Given the description of an element on the screen output the (x, y) to click on. 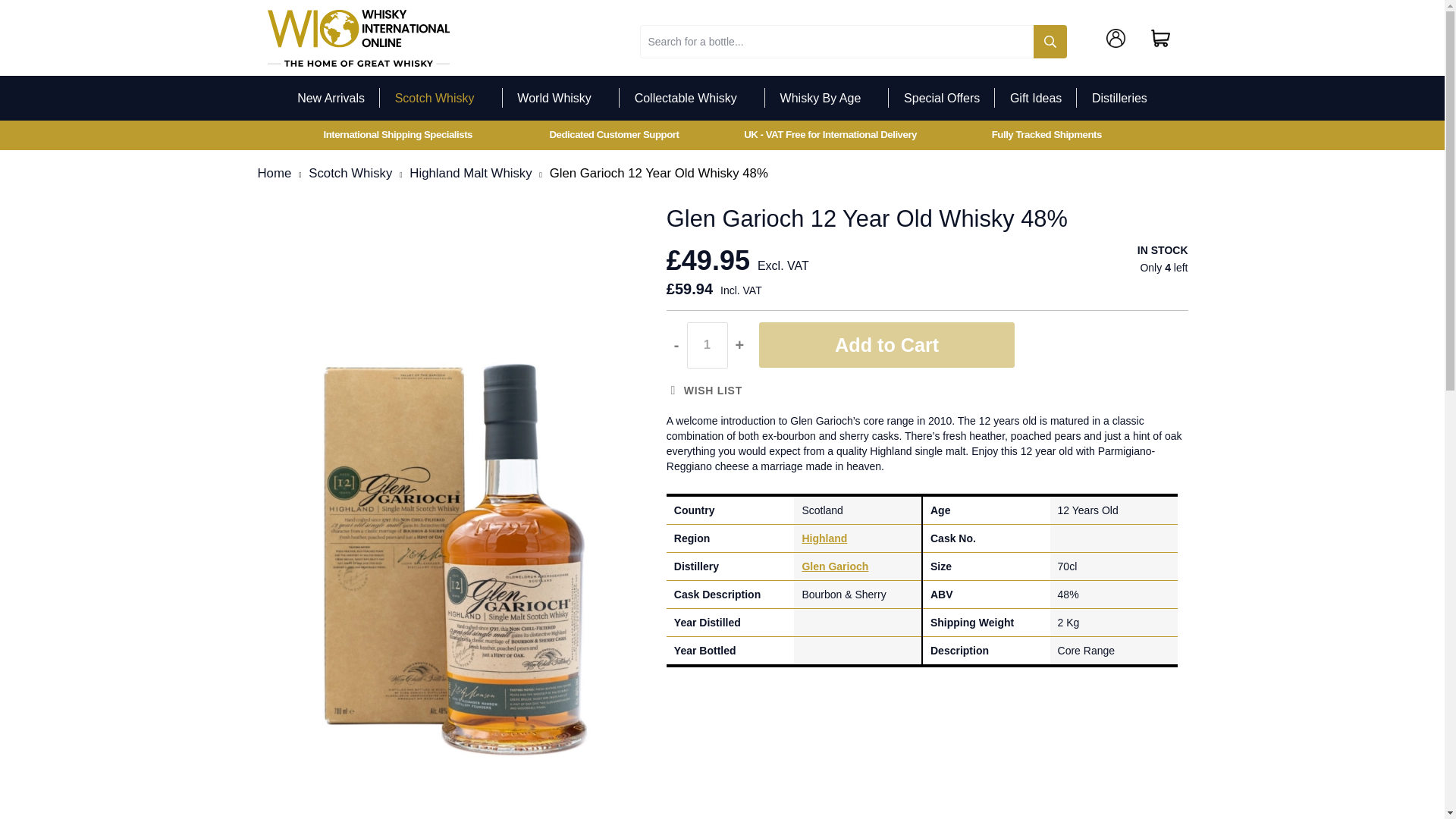
World Whisky (561, 98)
Availability (1162, 250)
My Cart (1160, 37)
Collectable Whisky (691, 98)
Add to Cart (886, 345)
Account (1119, 37)
Whisky International Online (357, 37)
Go to Home Page (274, 173)
Whisky By Age (826, 98)
New Arrivals (330, 98)
